Given the description of an element on the screen output the (x, y) to click on. 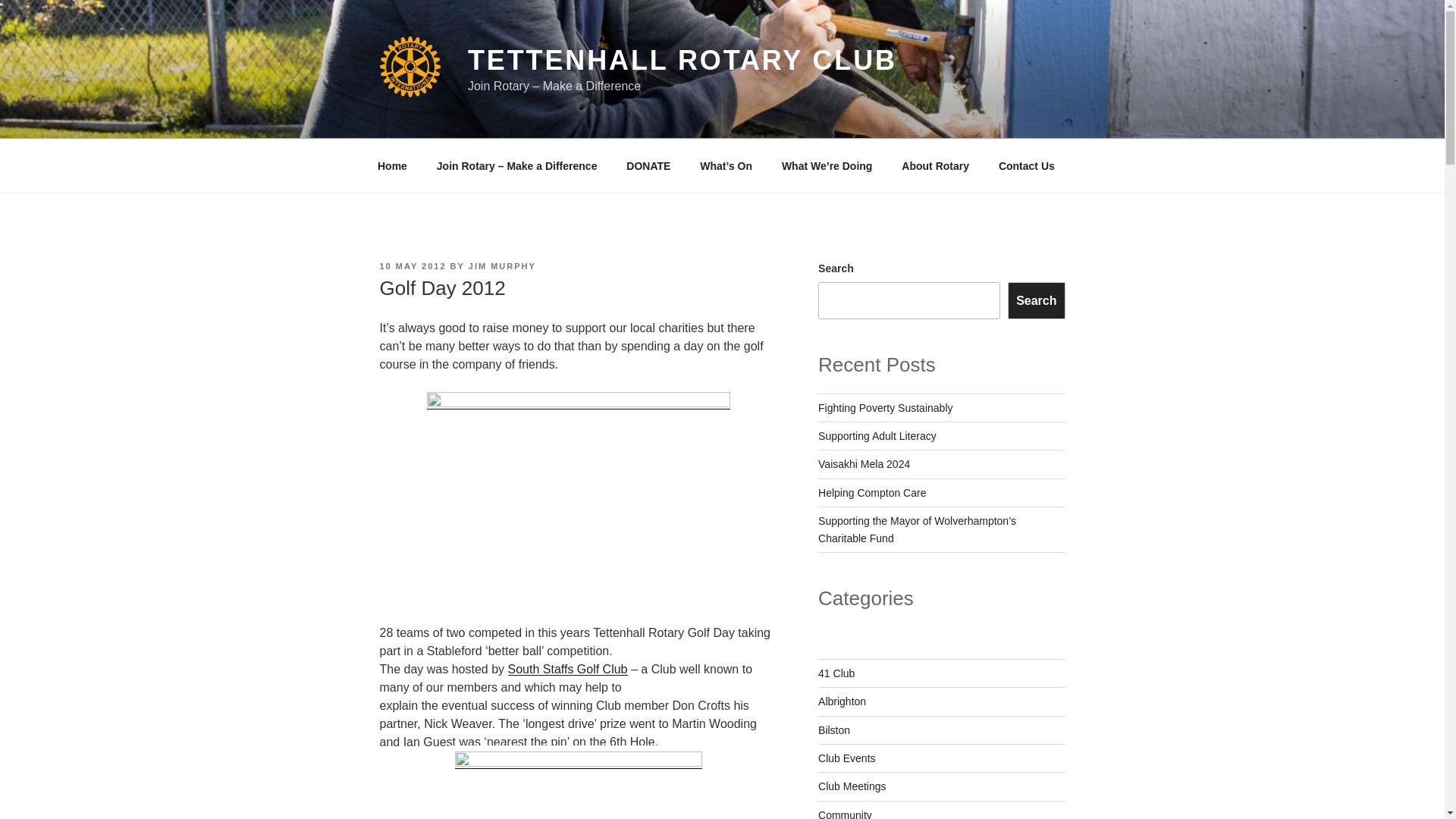
Bilston (834, 729)
Contact Us (1026, 165)
Search (1035, 299)
TETTENHALL ROTARY CLUB (681, 60)
Supporting Adult Literacy (877, 435)
Home (392, 165)
Club Meetings (852, 786)
Vaisakhi Mela 2024 (864, 463)
JIM MURPHY (501, 266)
Fighting Poverty Sustainably (885, 408)
